Given the description of an element on the screen output the (x, y) to click on. 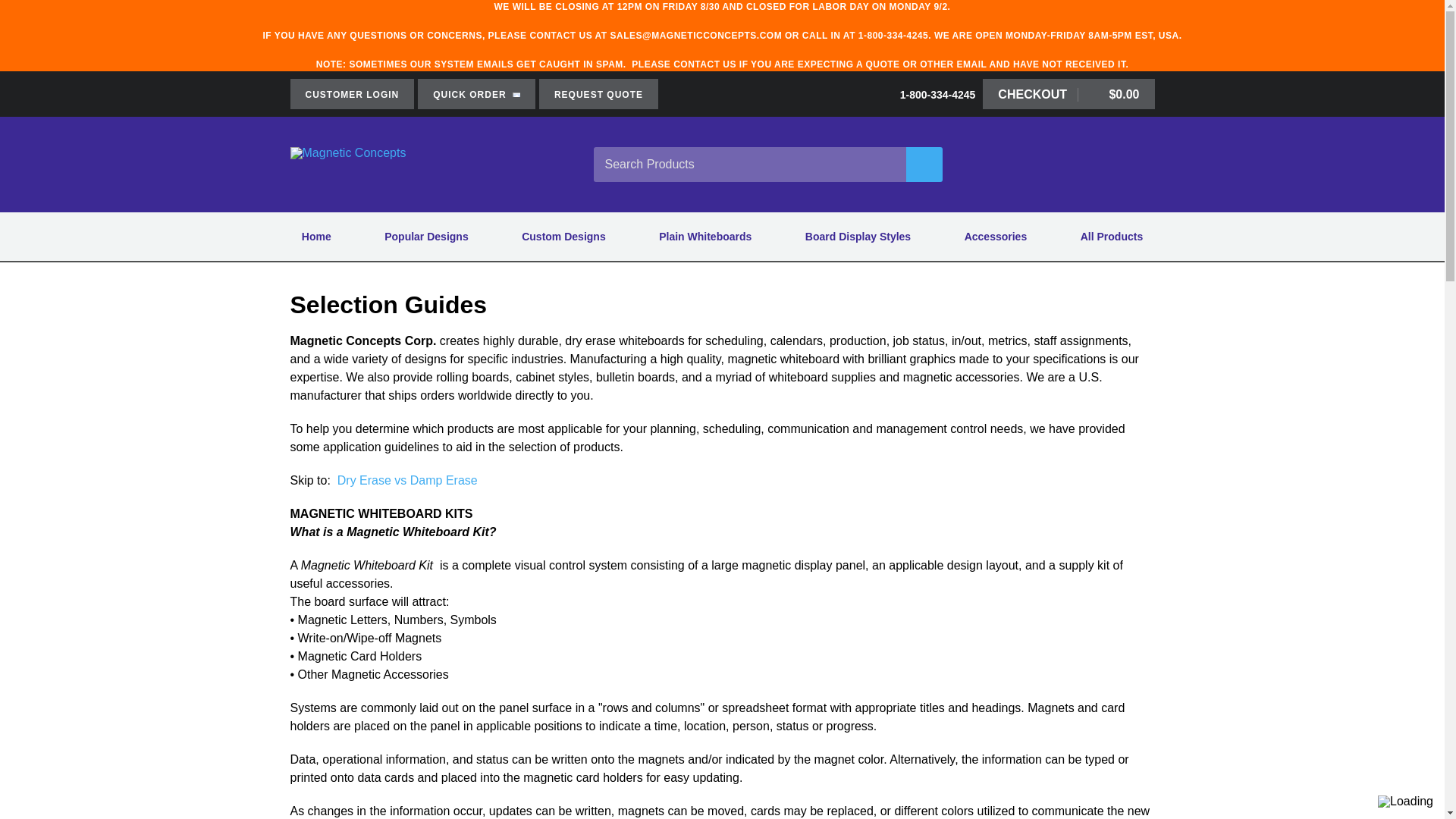
Board Display Styles (857, 236)
Magnetic Concepts (421, 164)
Plain Whiteboards (704, 236)
QUICK ORDER (476, 93)
Dry Erase vs Damp Erase (407, 480)
CUSTOMER LOGIN (351, 93)
Custom Designs (563, 236)
All Products (1110, 236)
Search (923, 164)
Search (923, 164)
